Given the description of an element on the screen output the (x, y) to click on. 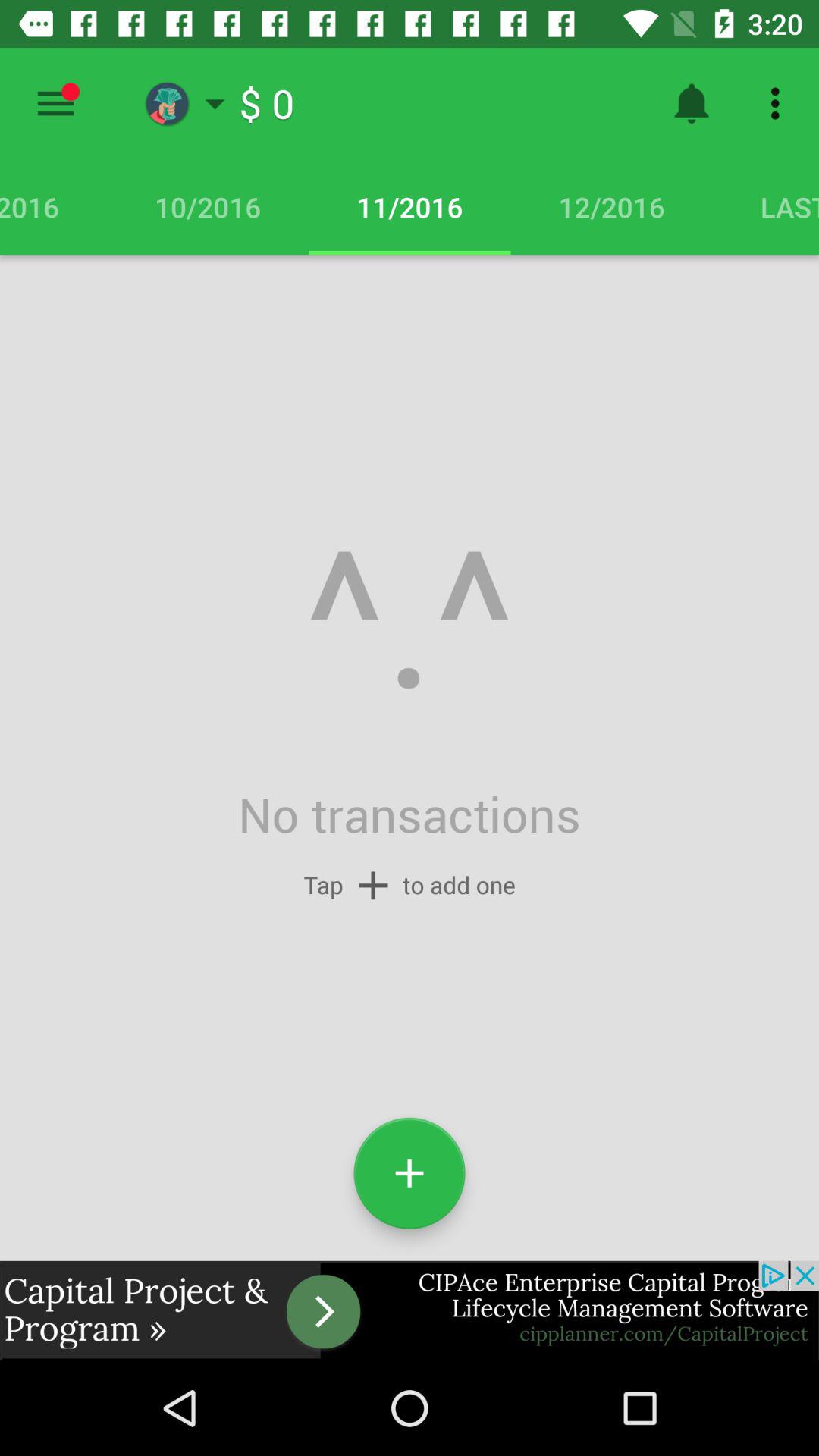
click on  icon (409, 1173)
